Given the description of an element on the screen output the (x, y) to click on. 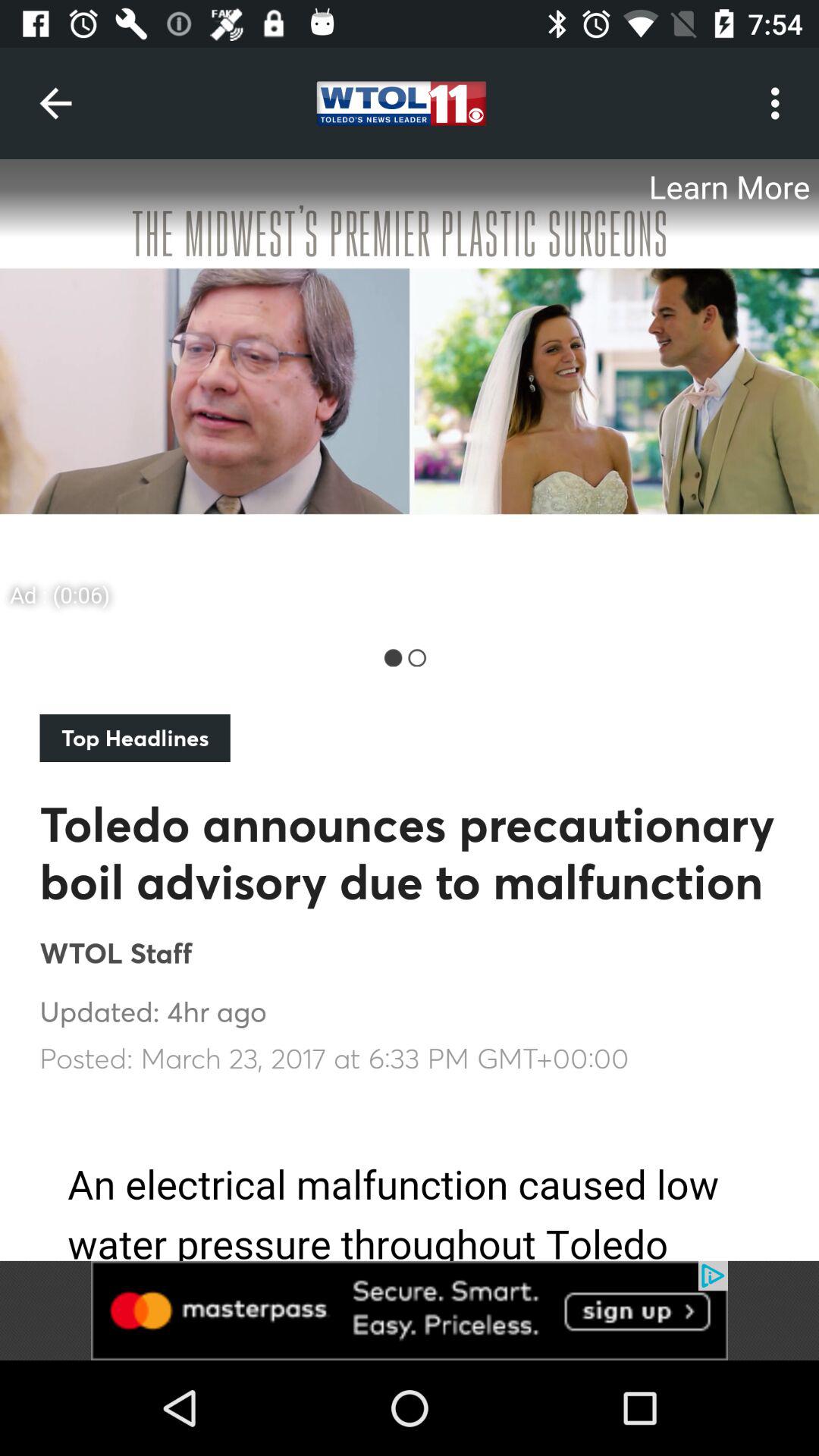
advertisement (409, 1310)
